Given the description of an element on the screen output the (x, y) to click on. 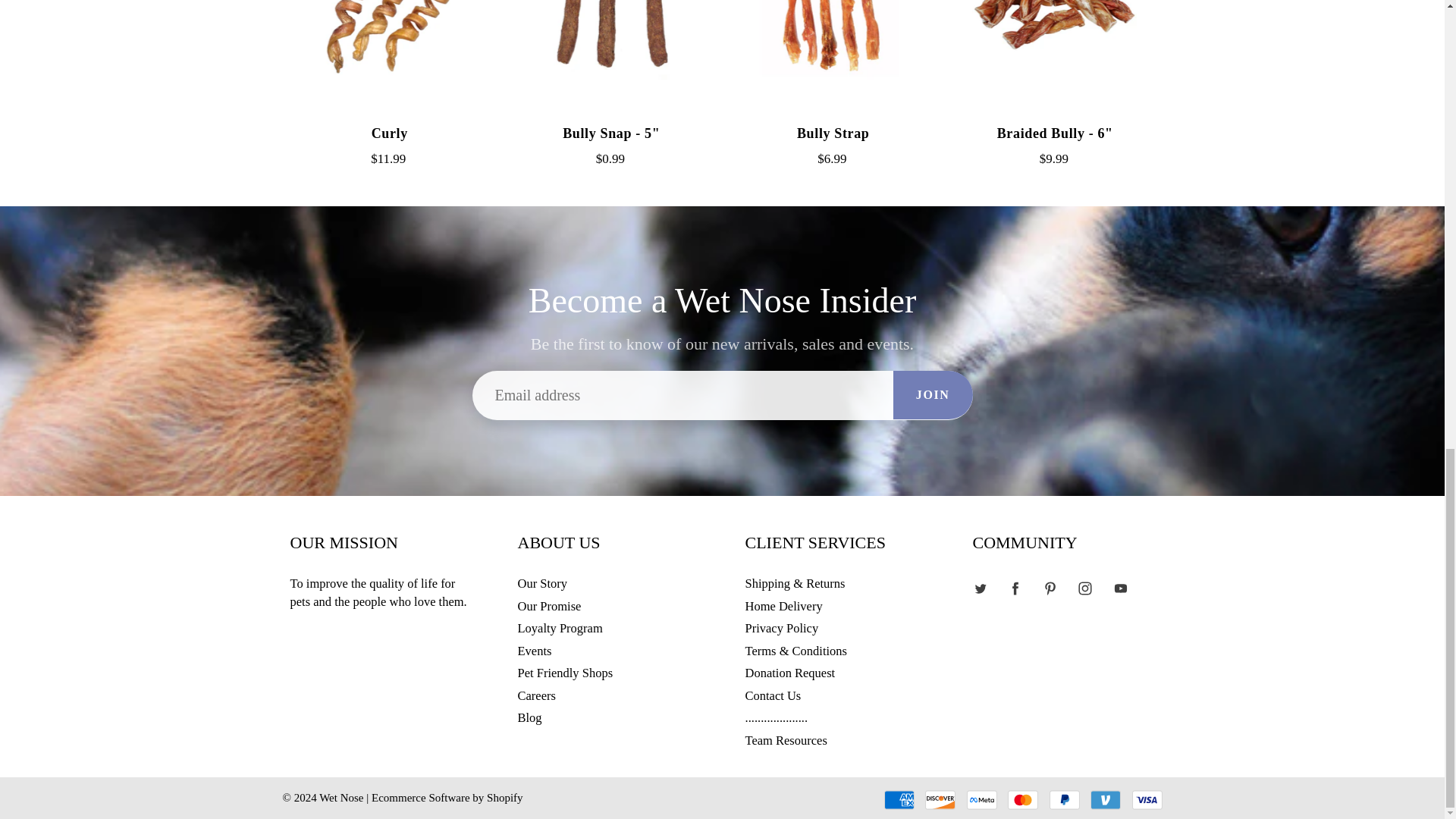
PayPal (1064, 799)
Discover (939, 799)
American Express (898, 799)
Meta Pay (980, 799)
Mastercard (1022, 799)
Venmo (1105, 799)
Visa (1146, 799)
